Given the description of an element on the screen output the (x, y) to click on. 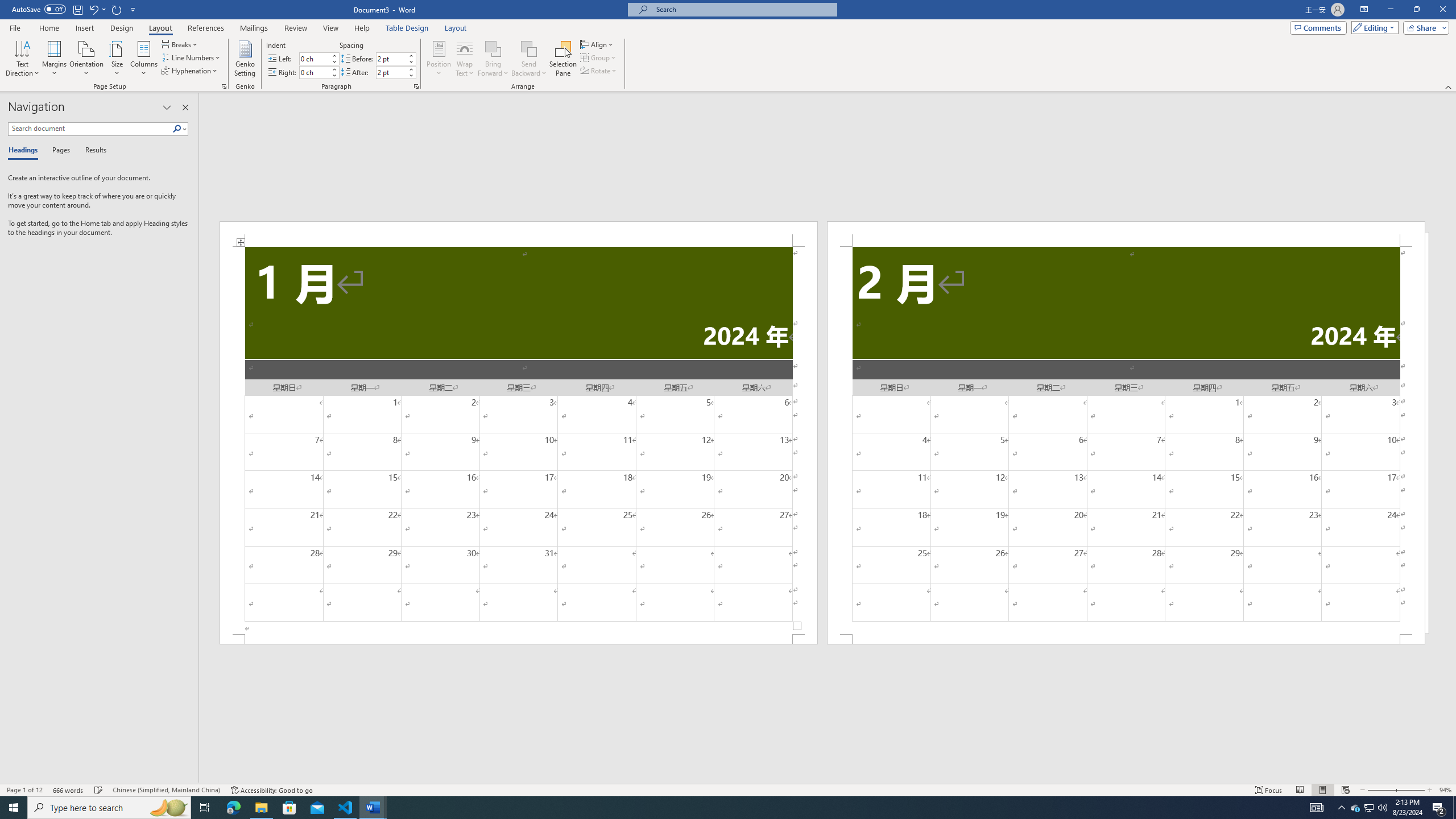
Text Direction (22, 58)
Microsoft search (742, 9)
Footer -Section 2- (1126, 638)
Results (91, 150)
Indent Left (314, 58)
Class: MsoCommandBar (728, 789)
Breaks (179, 44)
Bring Forward (492, 48)
Page 2 content (1126, 439)
Margins (54, 58)
